Given the description of an element on the screen output the (x, y) to click on. 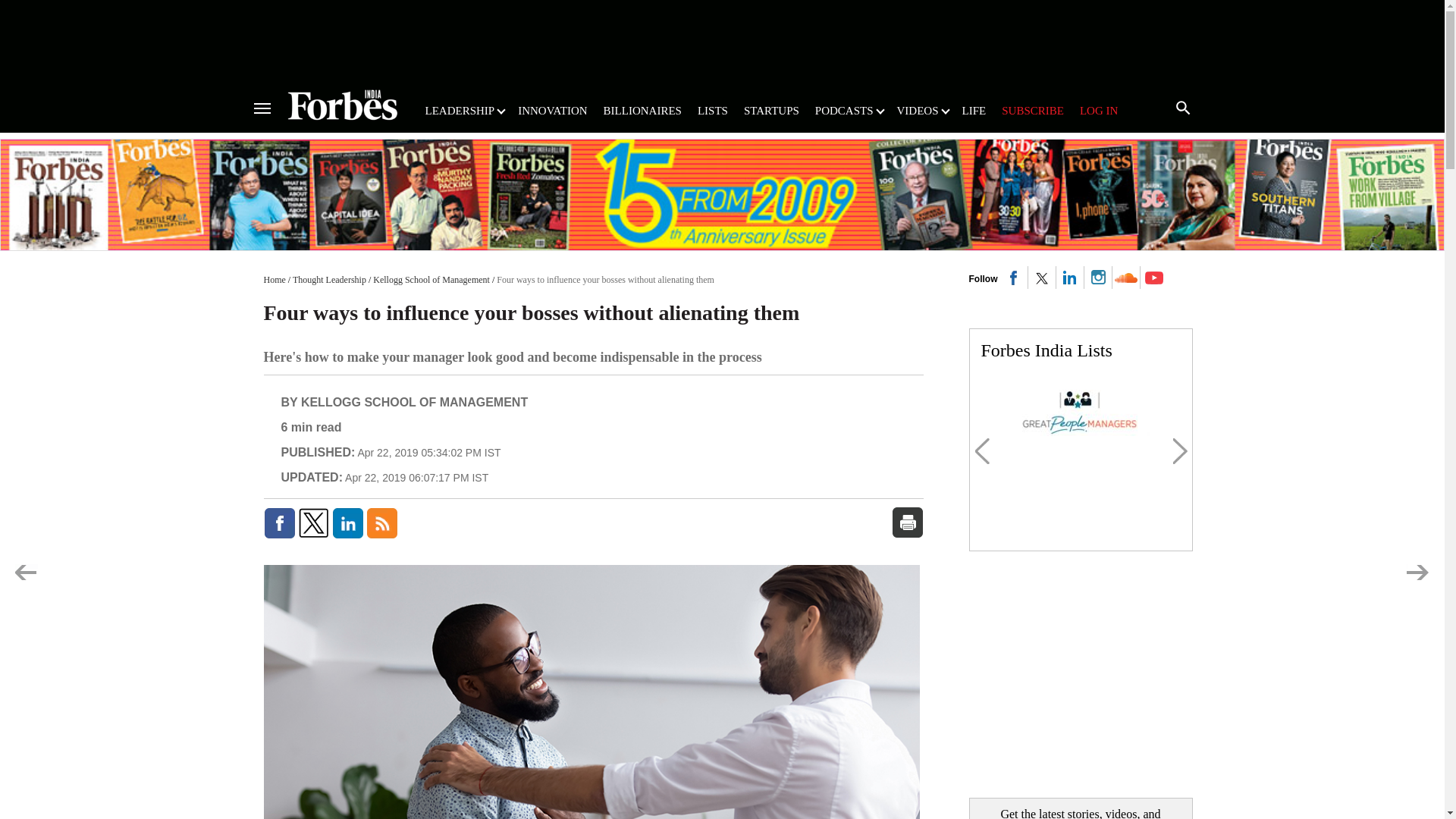
3rd party ad content (721, 39)
